Given the description of an element on the screen output the (x, y) to click on. 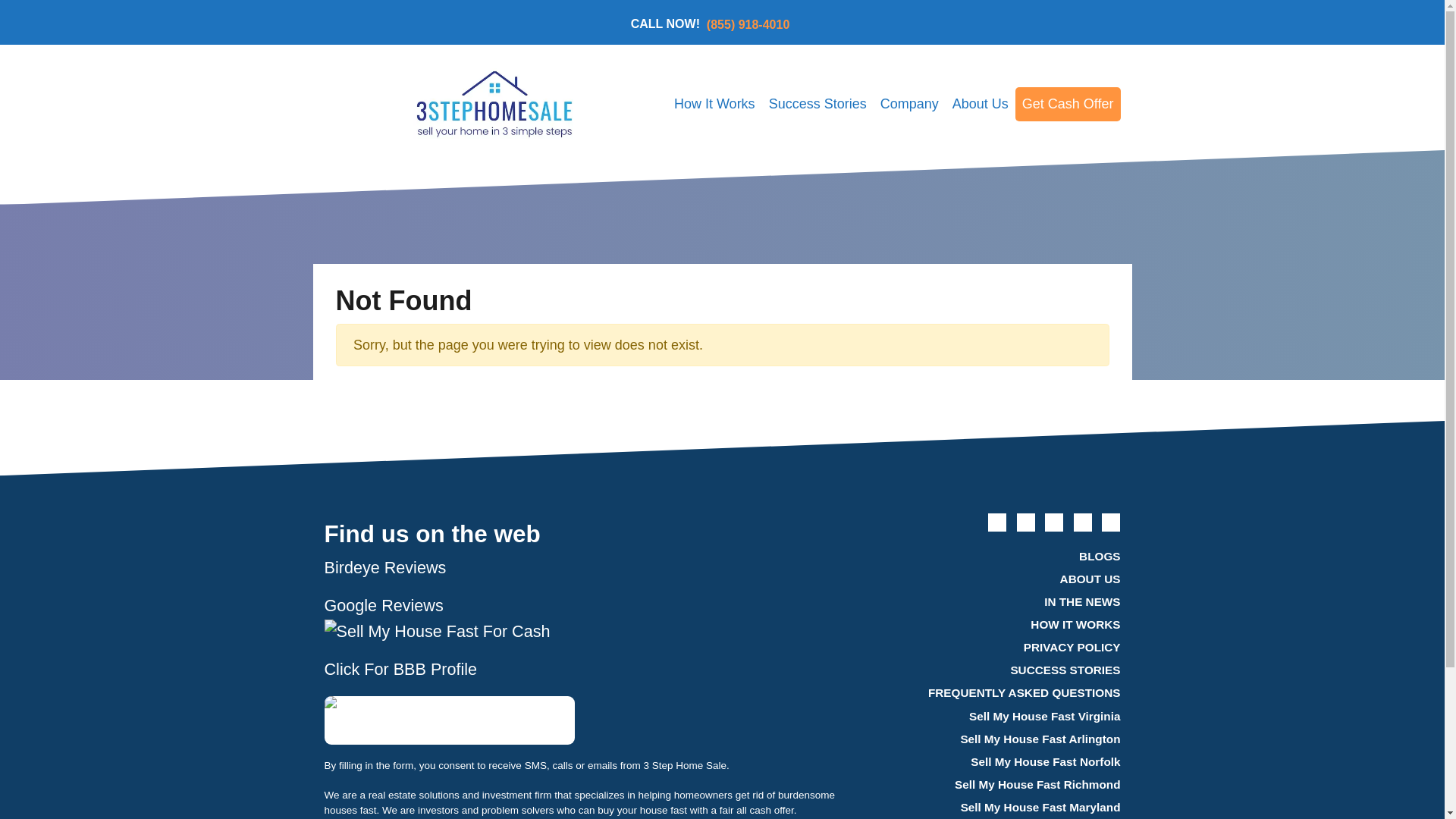
Company (908, 103)
HOW IT WORKS (995, 624)
How It Works (713, 103)
How It Works (713, 103)
SUCCESS STORIES (995, 671)
Sell My House Fast Virginia (1011, 716)
FREQUENTLY ASKED QUESTIONS (995, 693)
About Us (979, 103)
Get Cash Offer (1067, 103)
CALL NOW!   (668, 24)
